Given the description of an element on the screen output the (x, y) to click on. 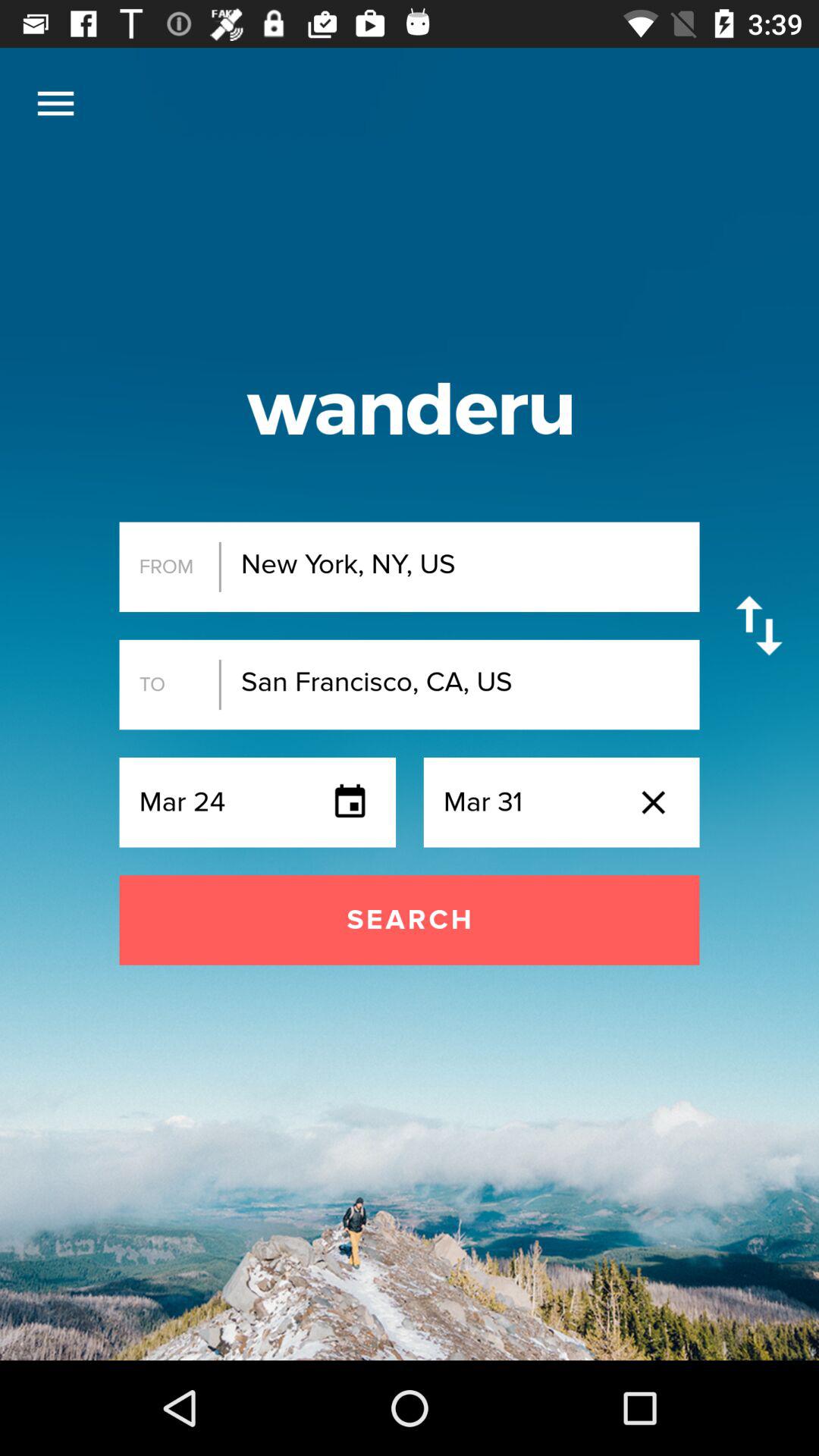
click to switch order (759, 625)
